Given the description of an element on the screen output the (x, y) to click on. 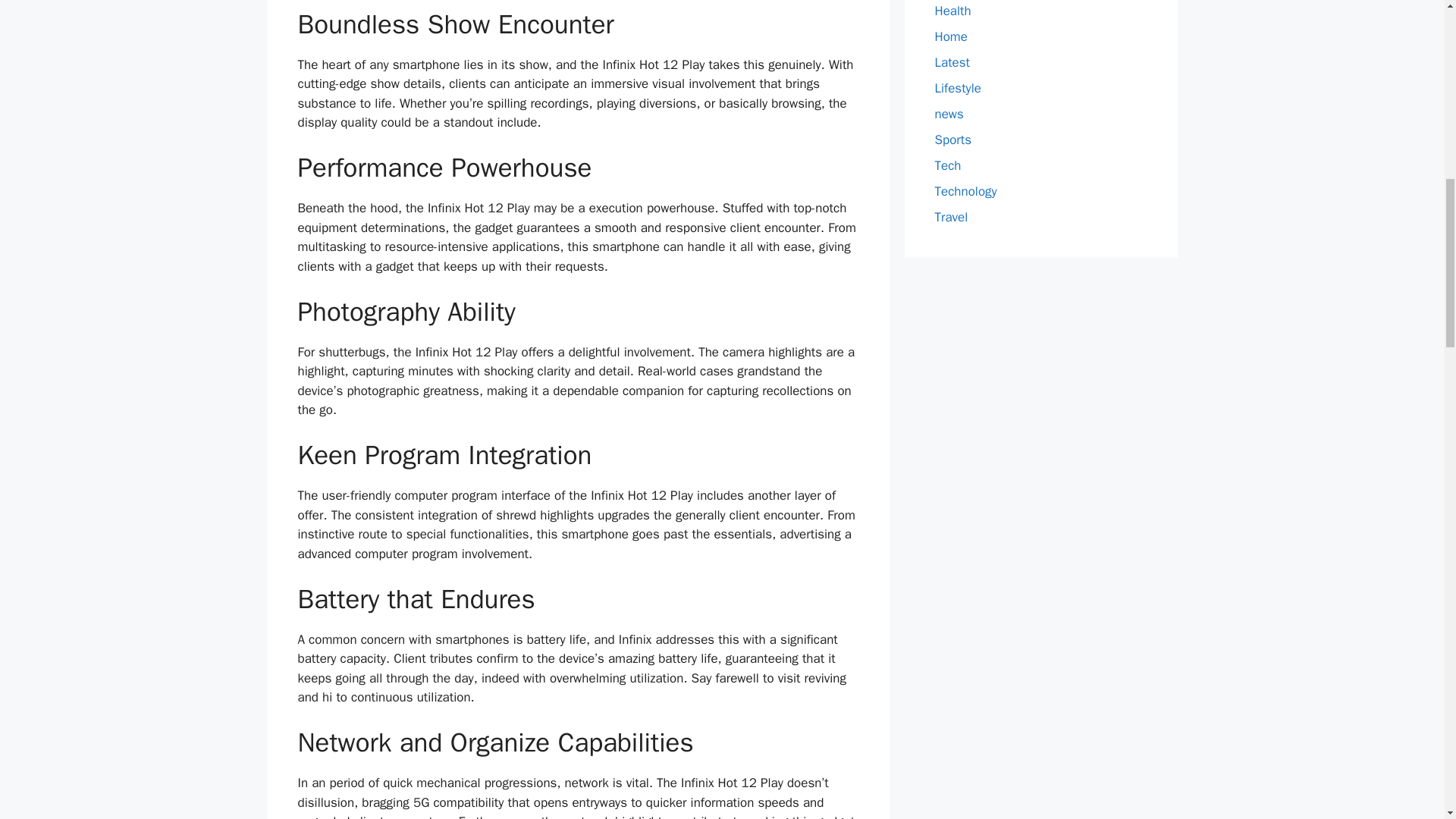
Sports (952, 139)
Technology (964, 191)
Lifestyle (956, 88)
Latest (951, 62)
Tech (947, 165)
Home (950, 36)
Health (952, 10)
news (948, 114)
